Given the description of an element on the screen output the (x, y) to click on. 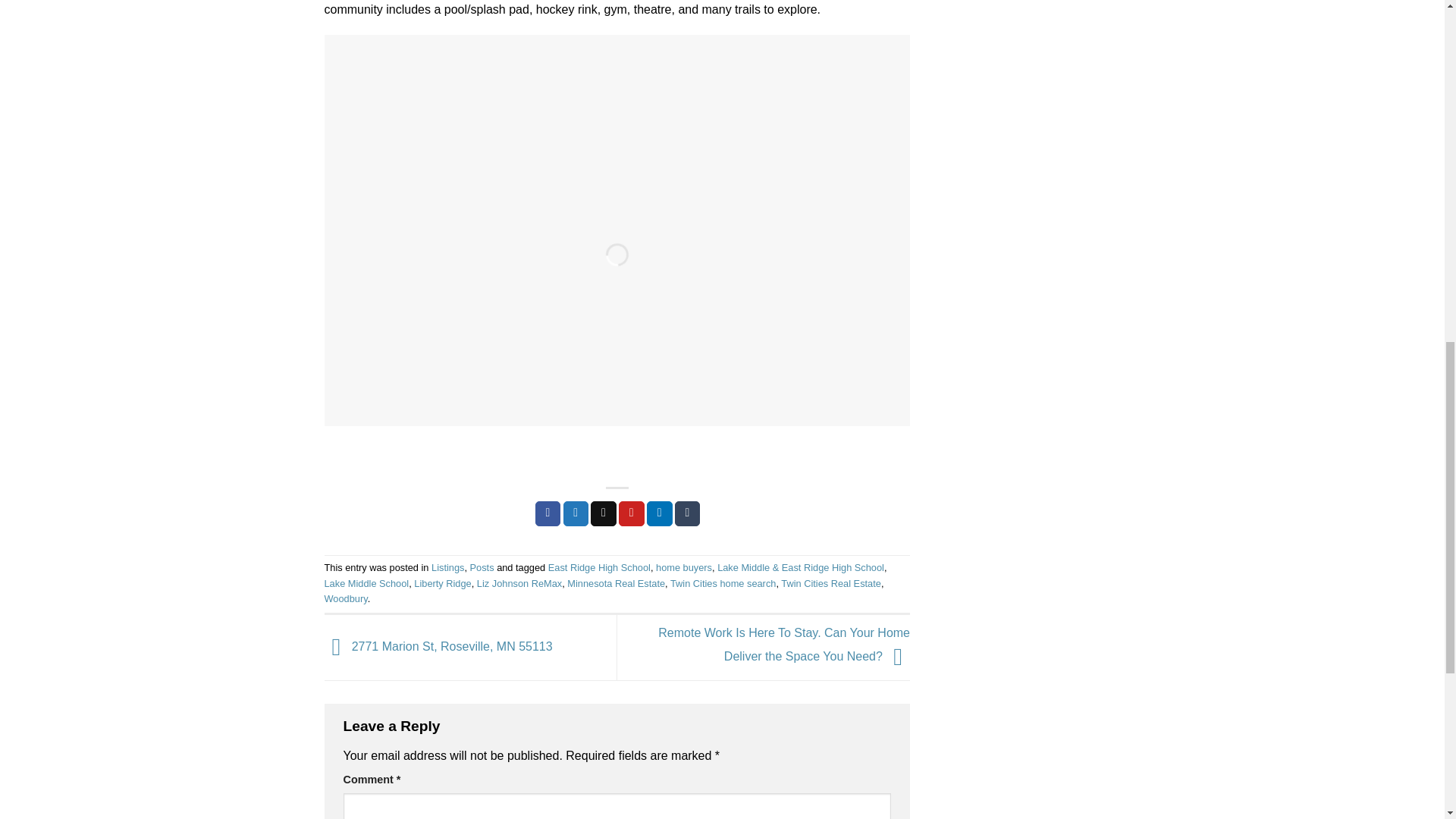
Liberty Ridge (441, 583)
Lake Middle School (366, 583)
Share on LinkedIn (659, 514)
Share on Tumblr (687, 514)
Twin Cities home search (722, 583)
home buyers (683, 567)
Woodbury (346, 598)
Liz Johnson ReMax (519, 583)
Email to a Friend (603, 514)
Listings (447, 567)
Pin on Pinterest (631, 514)
East Ridge High School (599, 567)
Posts (482, 567)
2771 Marion St, Roseville, MN 55113 (438, 646)
